Given the description of an element on the screen output the (x, y) to click on. 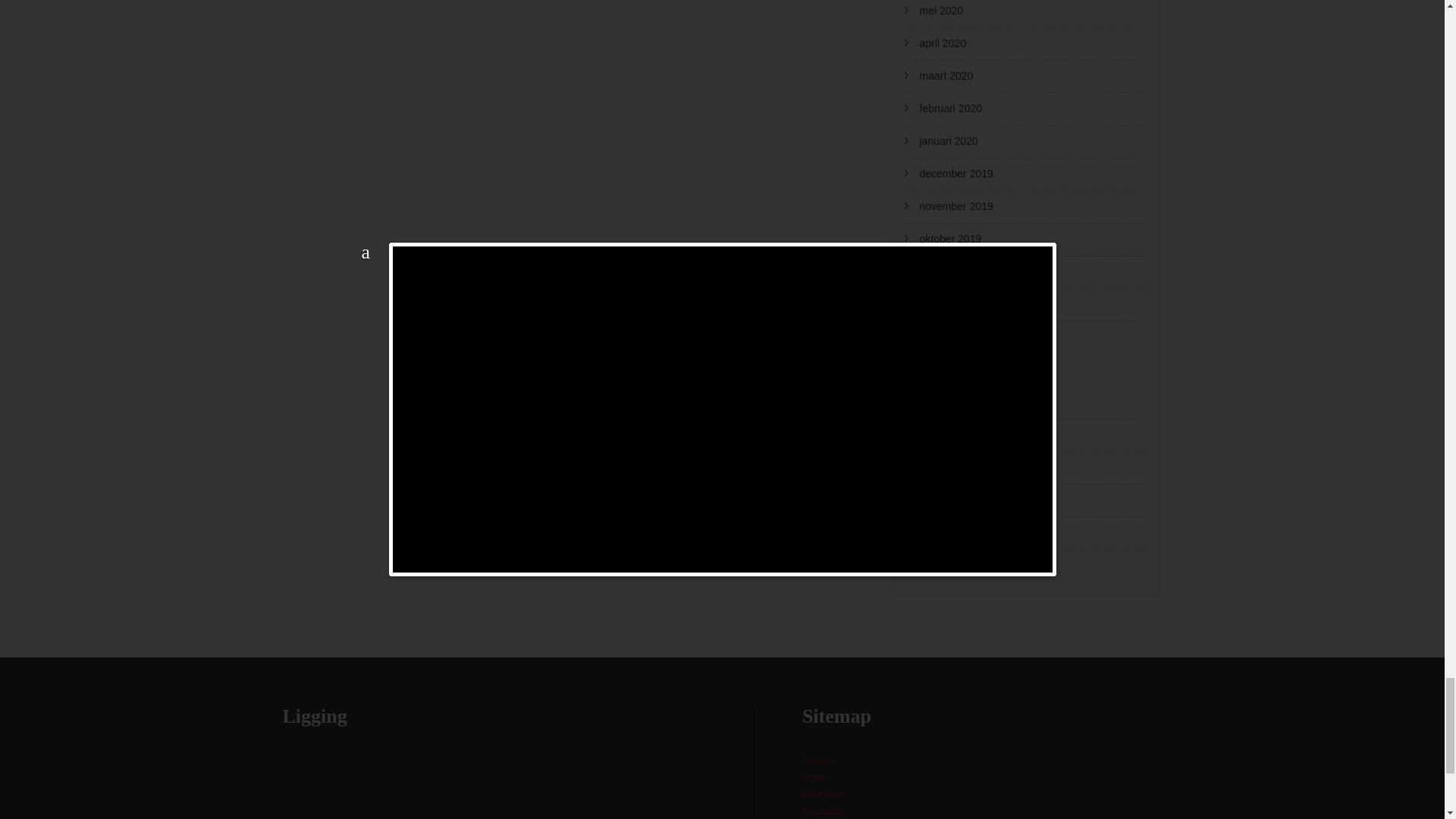
Google map insluitingen (508, 785)
